Given the description of an element on the screen output the (x, y) to click on. 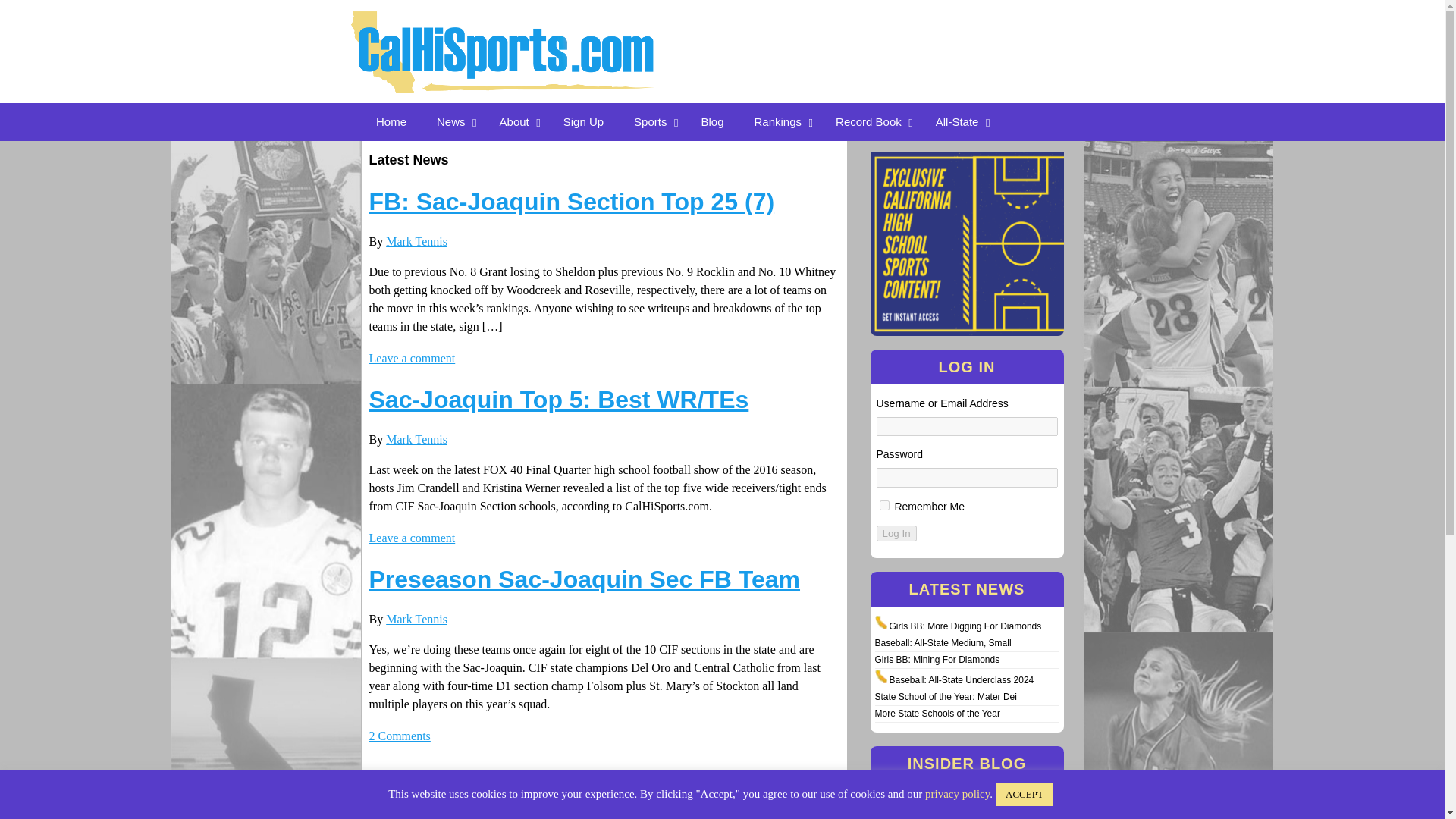
Permalink to Girls BB: More Digging For Diamonds (964, 625)
Rankings (779, 121)
Sign Up (583, 121)
Permalink to All-State Softball Patch List 2 (933, 813)
forever (884, 505)
Blog (711, 121)
Permalink to State School of the Year: Mater Dei (945, 696)
View all posts by Mark Tennis (415, 241)
Permalink to Baseball: All-State Underclass 2024 (960, 679)
Permalink to More State Schools of the Year (937, 713)
News (453, 121)
Sports (651, 121)
Home (391, 121)
Record Book (870, 121)
View all posts by Mark Tennis (415, 439)
